Given the description of an element on the screen output the (x, y) to click on. 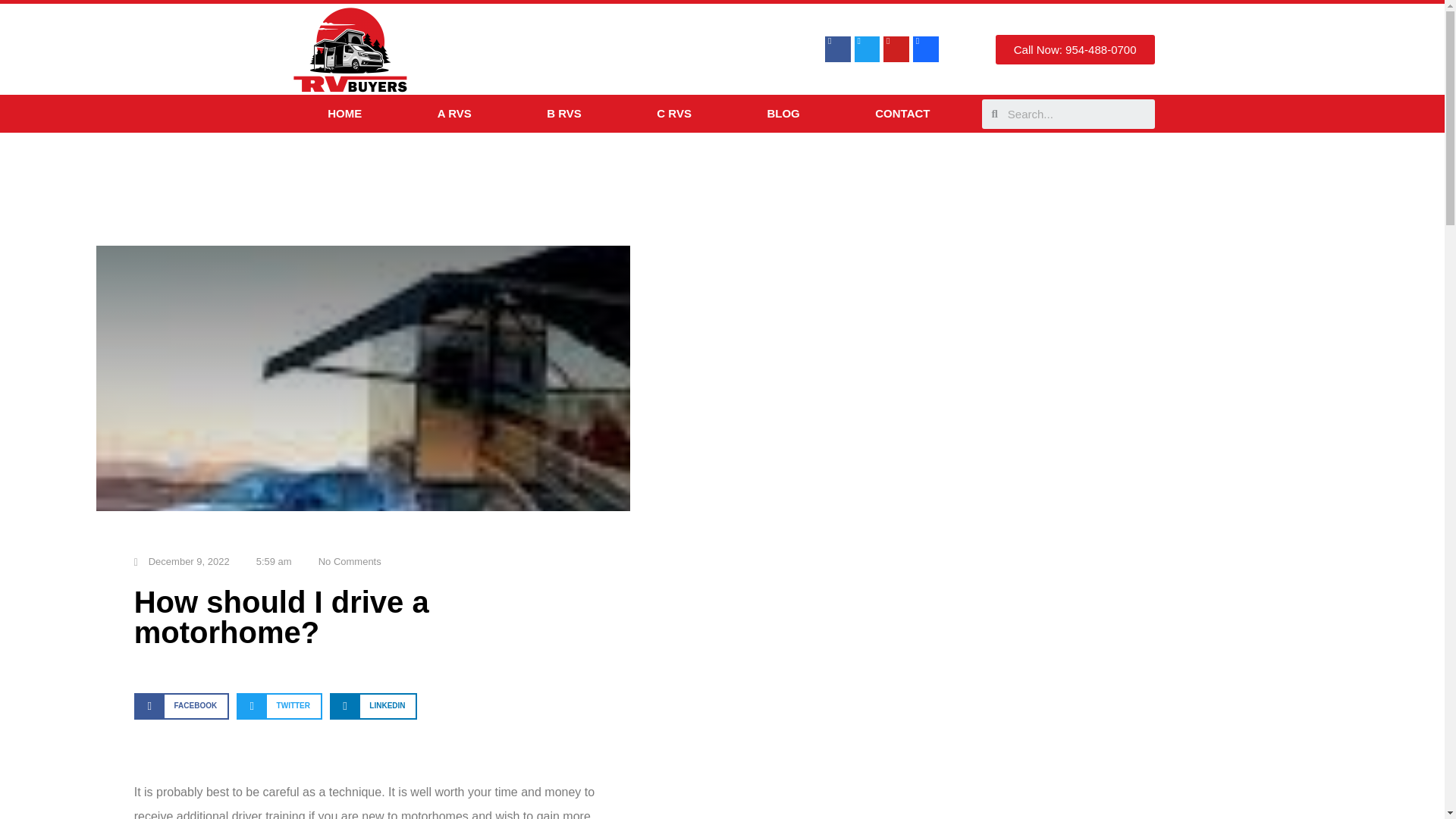
Search (1075, 112)
C RVS (674, 113)
No Comments (342, 561)
Call Now: 954-488-0700 (1074, 49)
BLOG (783, 113)
CONTACT (903, 113)
B RVS (564, 113)
A RVS (453, 113)
December 9, 2022 (181, 561)
RV BUYers (349, 49)
HOME (343, 113)
